Given the description of an element on the screen output the (x, y) to click on. 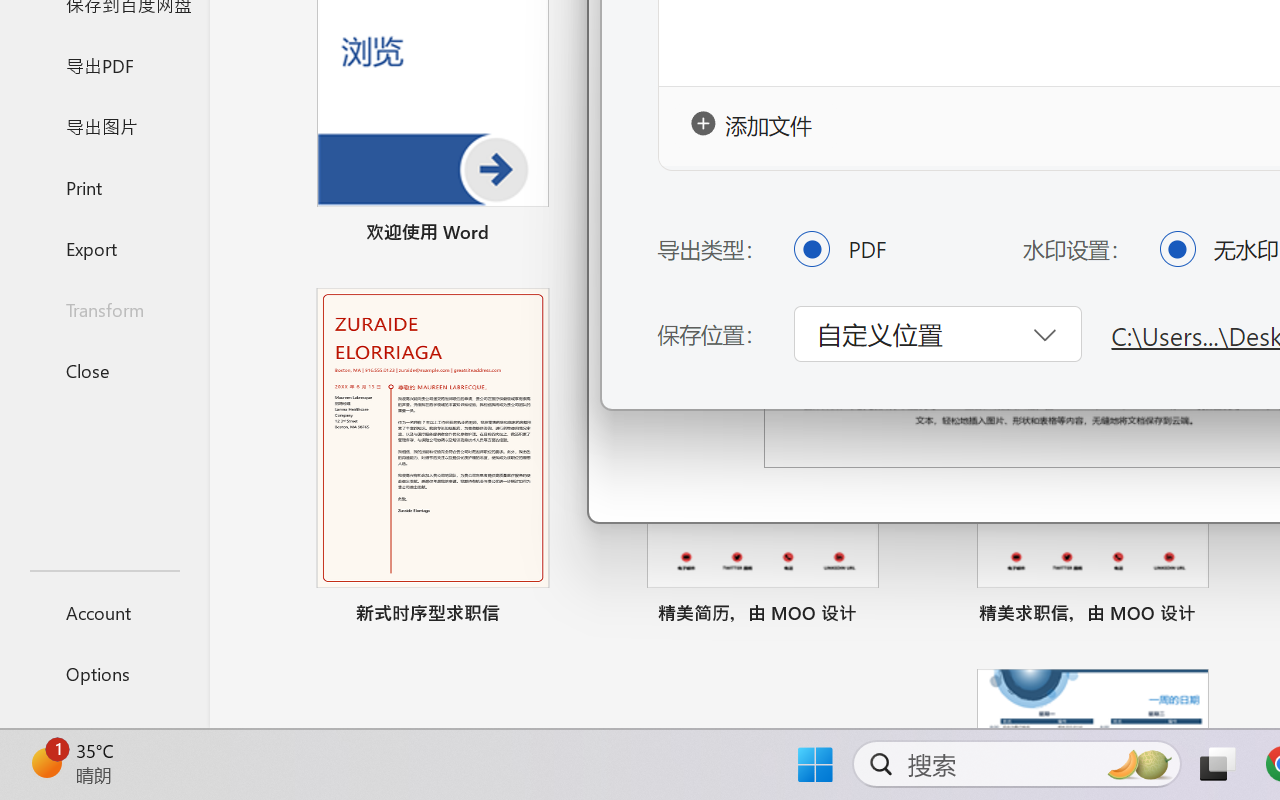
Options (104, 673)
Pin to list (1223, 616)
Account (104, 612)
